Given the description of an element on the screen output the (x, y) to click on. 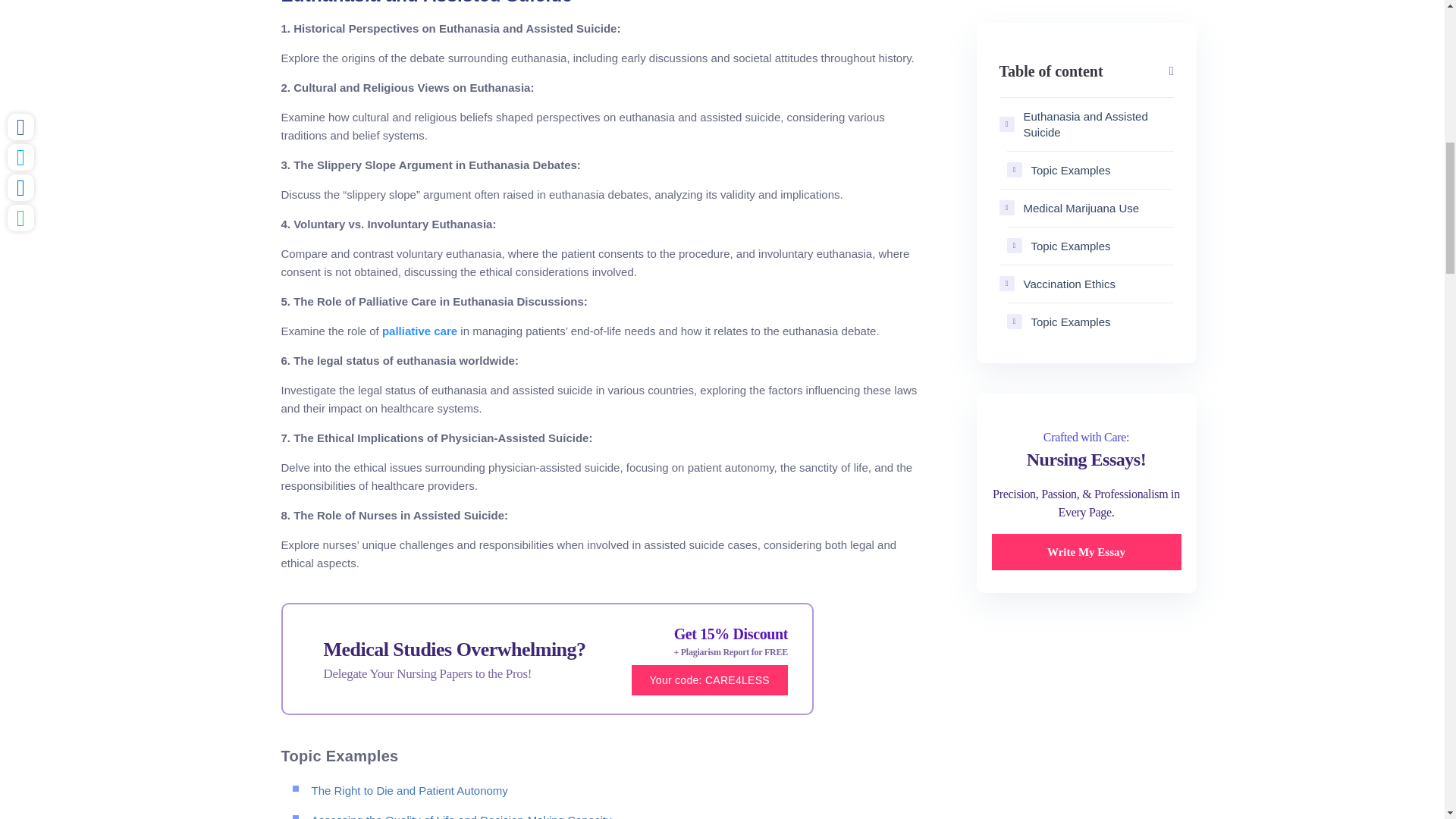
Your code: CARE4LESS (709, 680)
palliative care (419, 330)
